Given the description of an element on the screen output the (x, y) to click on. 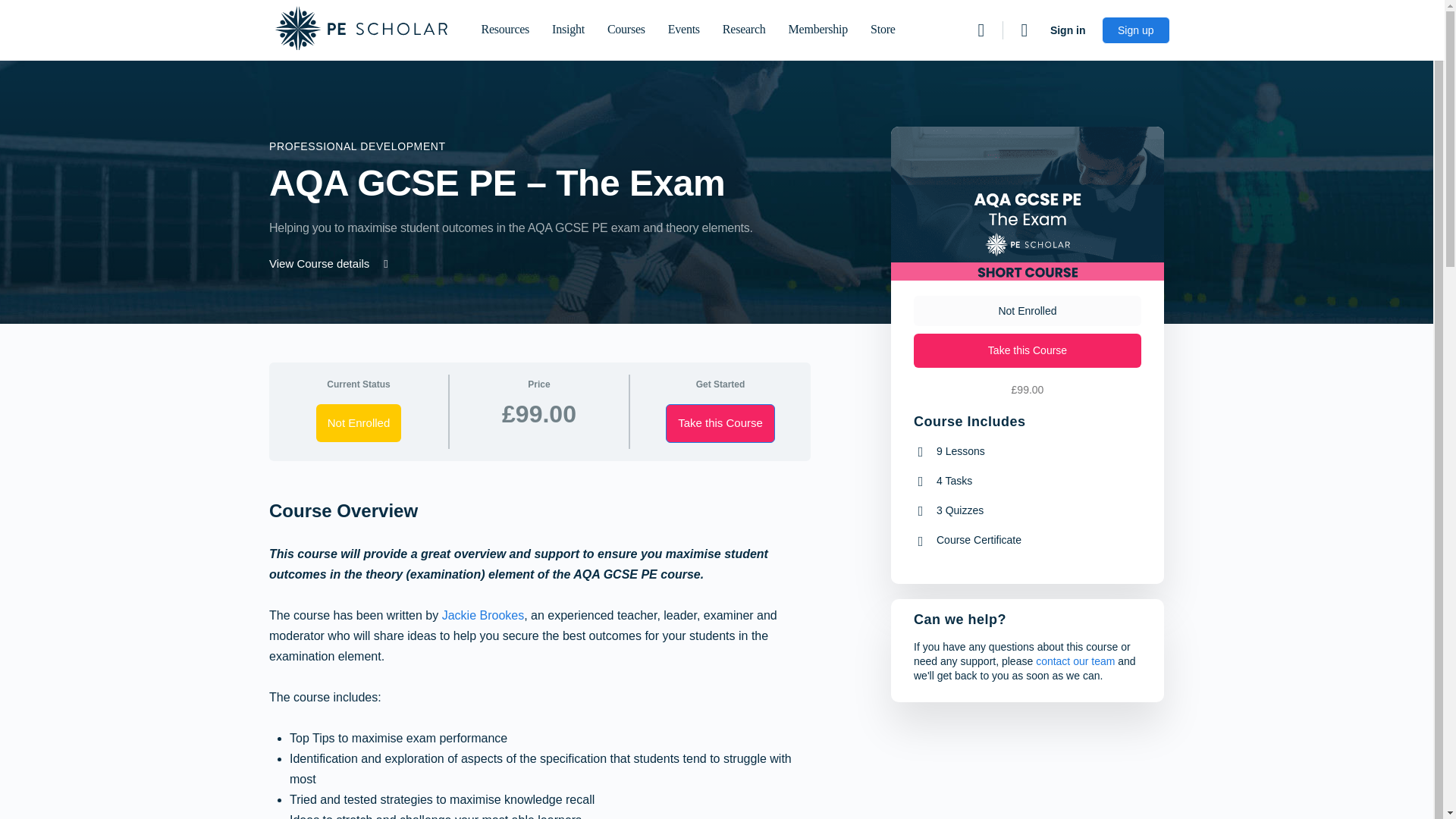
Take this Course (719, 423)
Membership (818, 30)
Research (743, 30)
Sign up (1135, 30)
PROFESSIONAL DEVELOPMENT (357, 146)
View Course details (330, 263)
Professional Development (357, 146)
Jackie Brookes (483, 615)
Sign in (1067, 30)
Resources (505, 30)
